Given the description of an element on the screen output the (x, y) to click on. 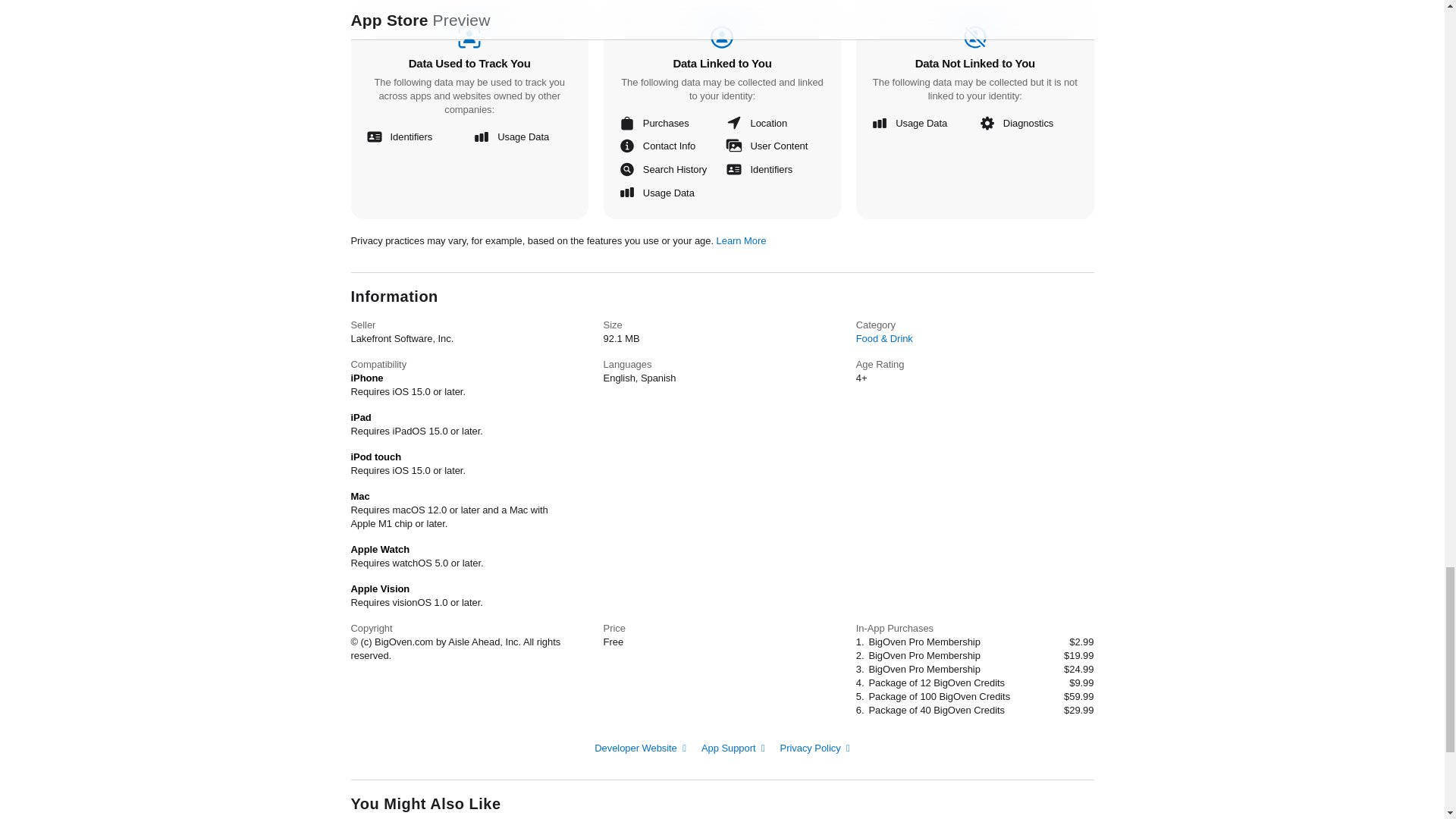
Developer Website (639, 747)
Learn More (741, 240)
Privacy Policy (815, 747)
App Support (733, 747)
